Given the description of an element on the screen output the (x, y) to click on. 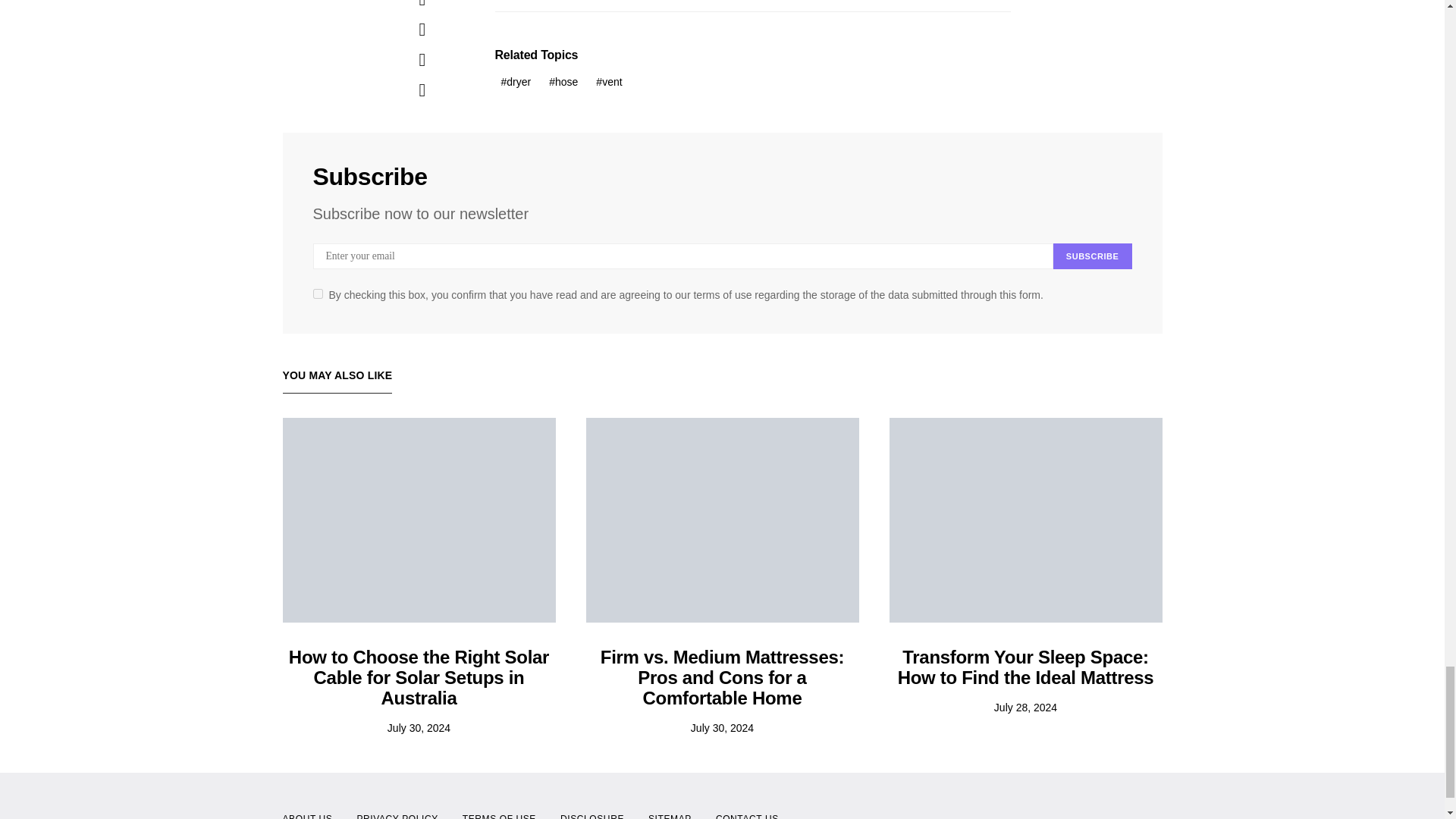
on (317, 293)
